Given the description of an element on the screen output the (x, y) to click on. 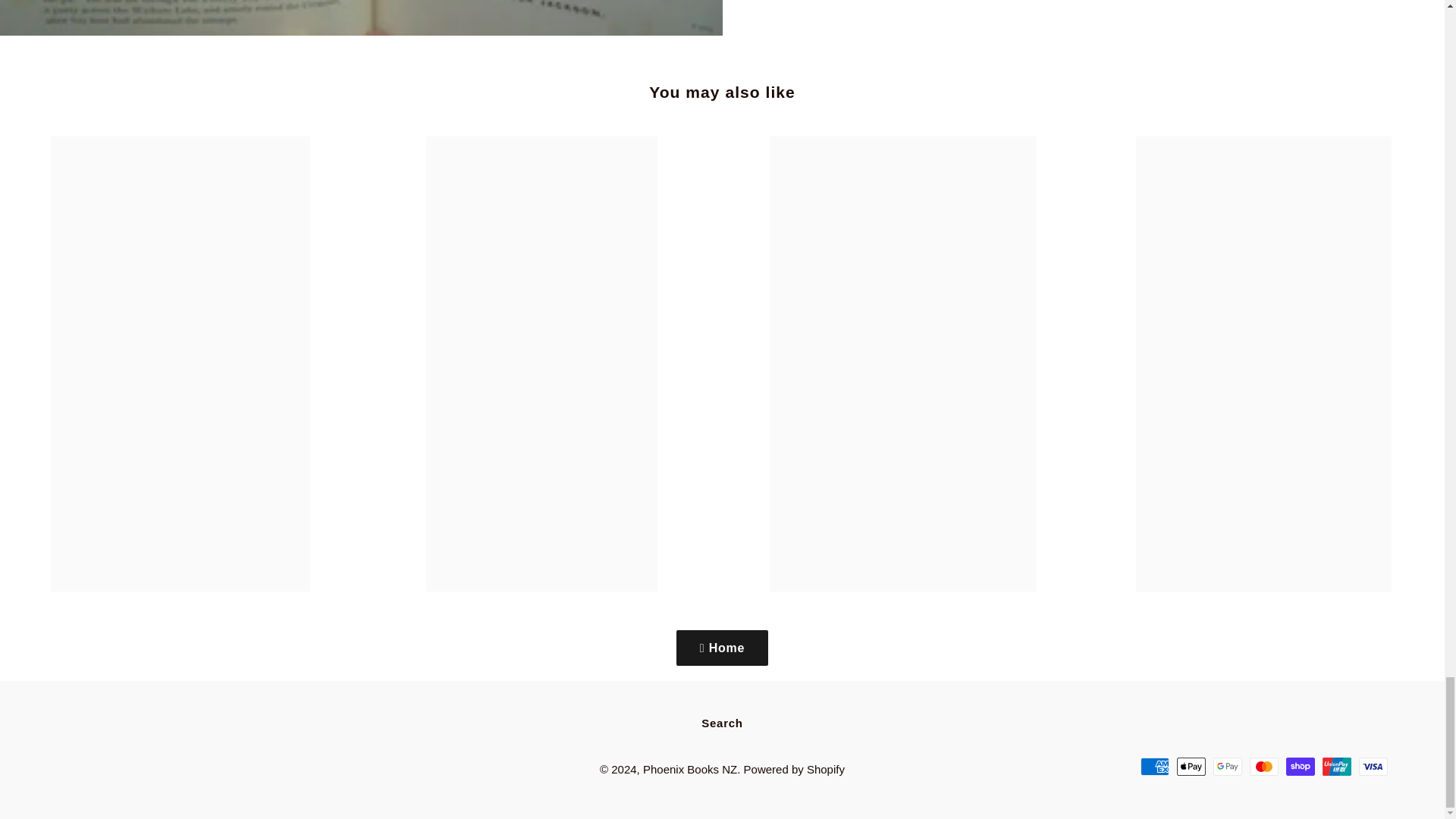
American Express (1154, 766)
Union Pay (1336, 766)
Visa (1372, 766)
Mastercard (1263, 766)
Google Pay (1226, 766)
Shop Pay (1299, 766)
Phoenix Books NZ (689, 768)
Home (722, 647)
Powered by Shopify (794, 768)
Search (721, 722)
Apple Pay (1190, 766)
